Given the description of an element on the screen output the (x, y) to click on. 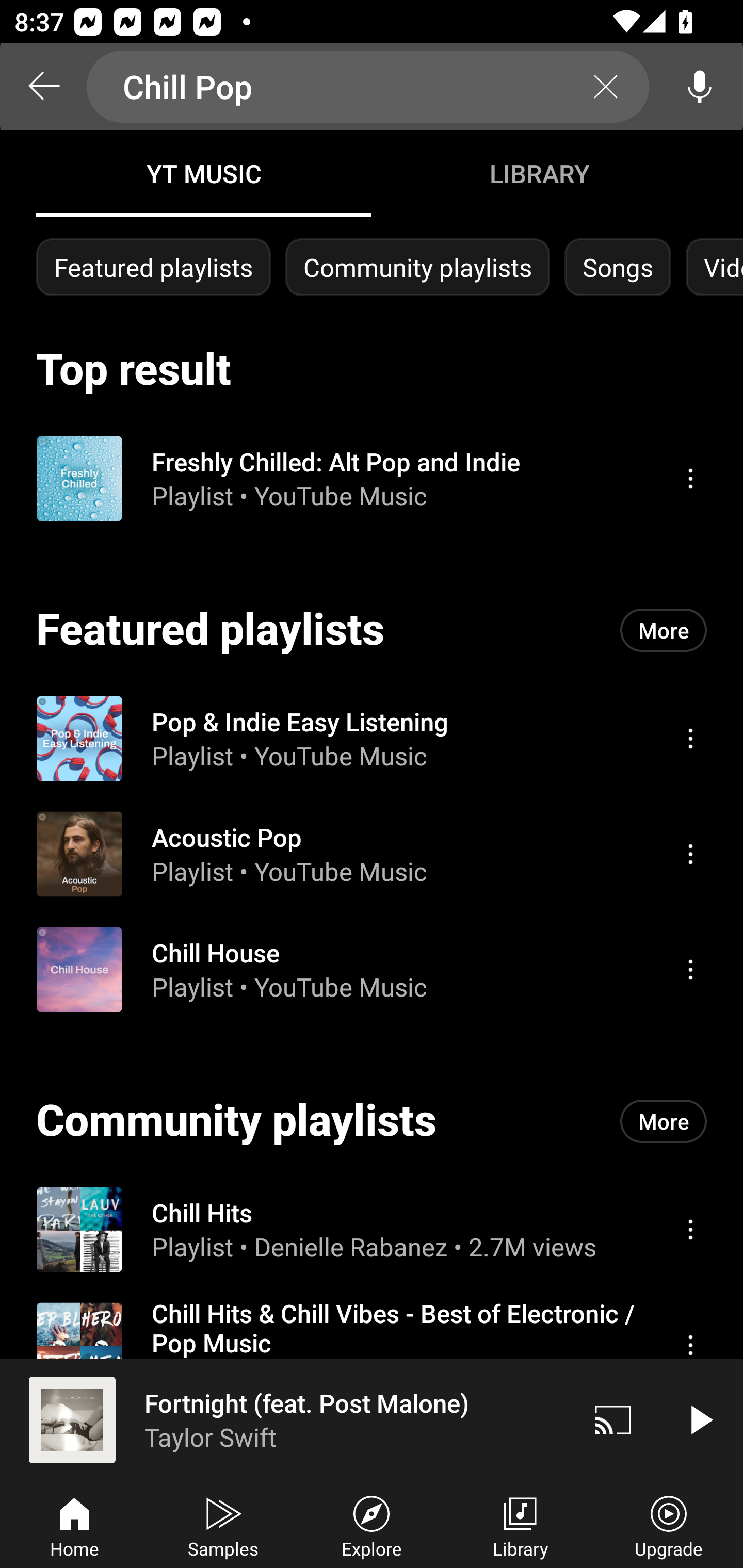
Search back (43, 86)
Chill Pop (367, 86)
Clear search (605, 86)
Voice search (699, 86)
Library LIBRARY (538, 173)
Menu (690, 478)
Featured playlists More More (371, 630)
More (663, 630)
Menu (690, 738)
Menu (690, 854)
Menu (690, 968)
Community playlists More More (371, 1120)
More (663, 1121)
Menu (690, 1229)
Menu (690, 1345)
Fortnight (feat. Post Malone) Taylor Swift (284, 1419)
Cast. Disconnected (612, 1419)
Play video (699, 1419)
Home (74, 1524)
Samples (222, 1524)
Explore (371, 1524)
Library (519, 1524)
Upgrade (668, 1524)
